Given the description of an element on the screen output the (x, y) to click on. 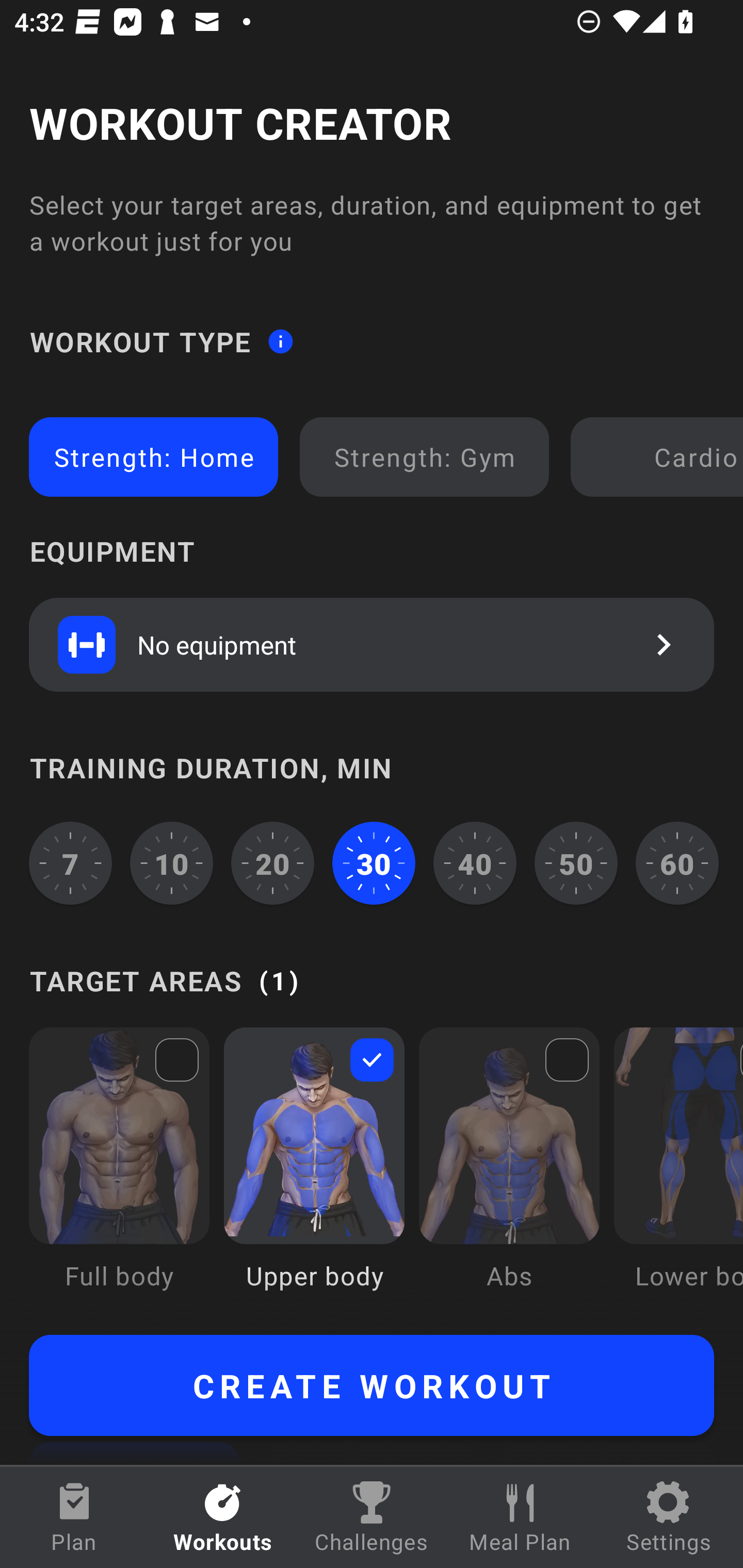
Workout type information button (280, 340)
Strength: Gym (423, 457)
Cardio (660, 457)
No equipment (371, 644)
7 (70, 862)
10 (171, 862)
20 (272, 862)
30 (373, 862)
40 (474, 862)
50 (575, 862)
60 (676, 862)
Full body (118, 1172)
Abs (509, 1172)
Lower body (678, 1172)
CREATE WORKOUT (371, 1385)
 Plan  (74, 1517)
 Challenges  (371, 1517)
 Meal Plan  (519, 1517)
 Settings  (668, 1517)
